Given the description of an element on the screen output the (x, y) to click on. 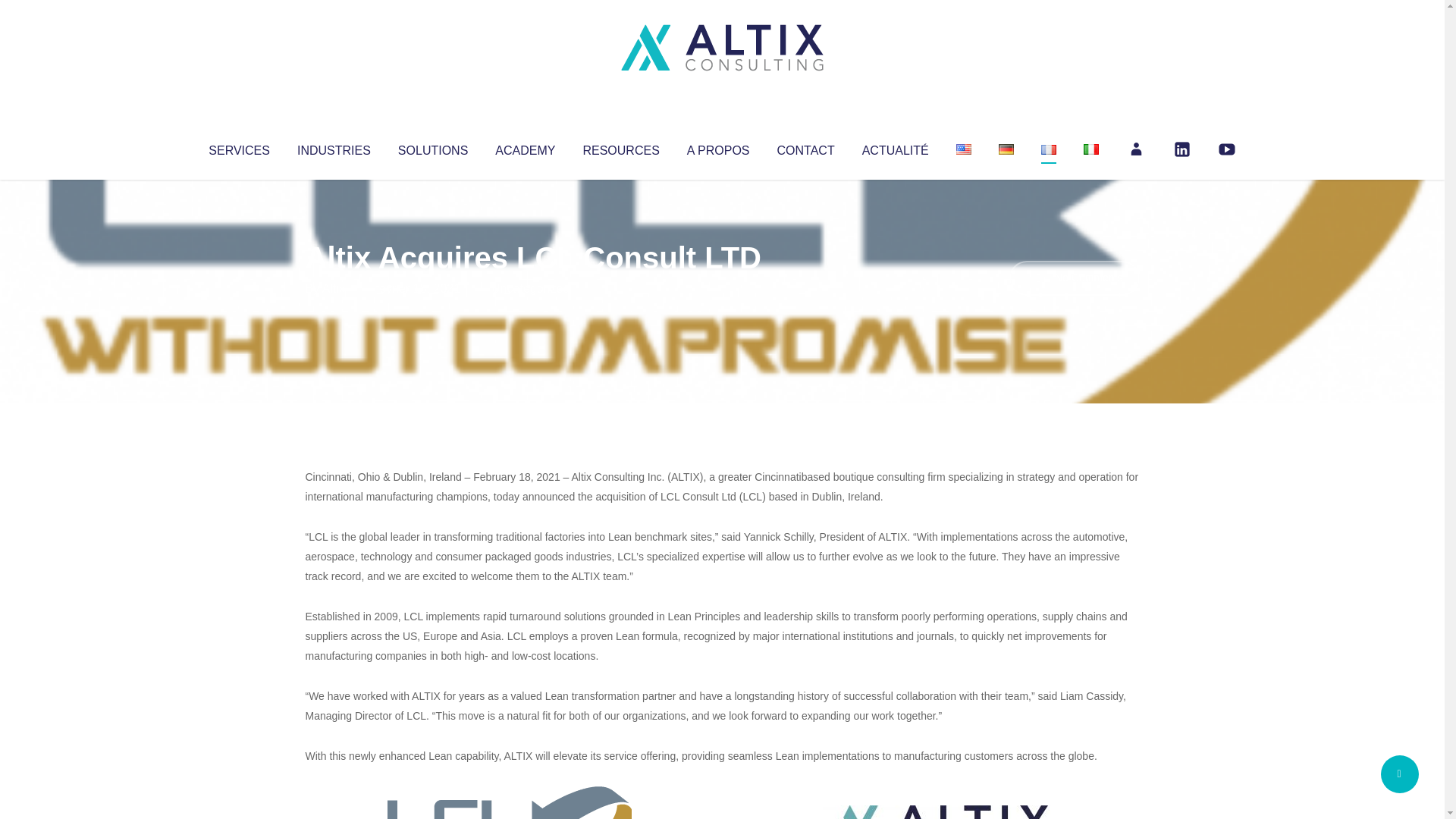
SOLUTIONS (432, 146)
Uncategorized (530, 287)
ACADEMY (524, 146)
Articles par Altix (333, 287)
A PROPOS (718, 146)
Altix (333, 287)
No Comments (1073, 278)
SERVICES (238, 146)
RESOURCES (620, 146)
INDUSTRIES (334, 146)
